Given the description of an element on the screen output the (x, y) to click on. 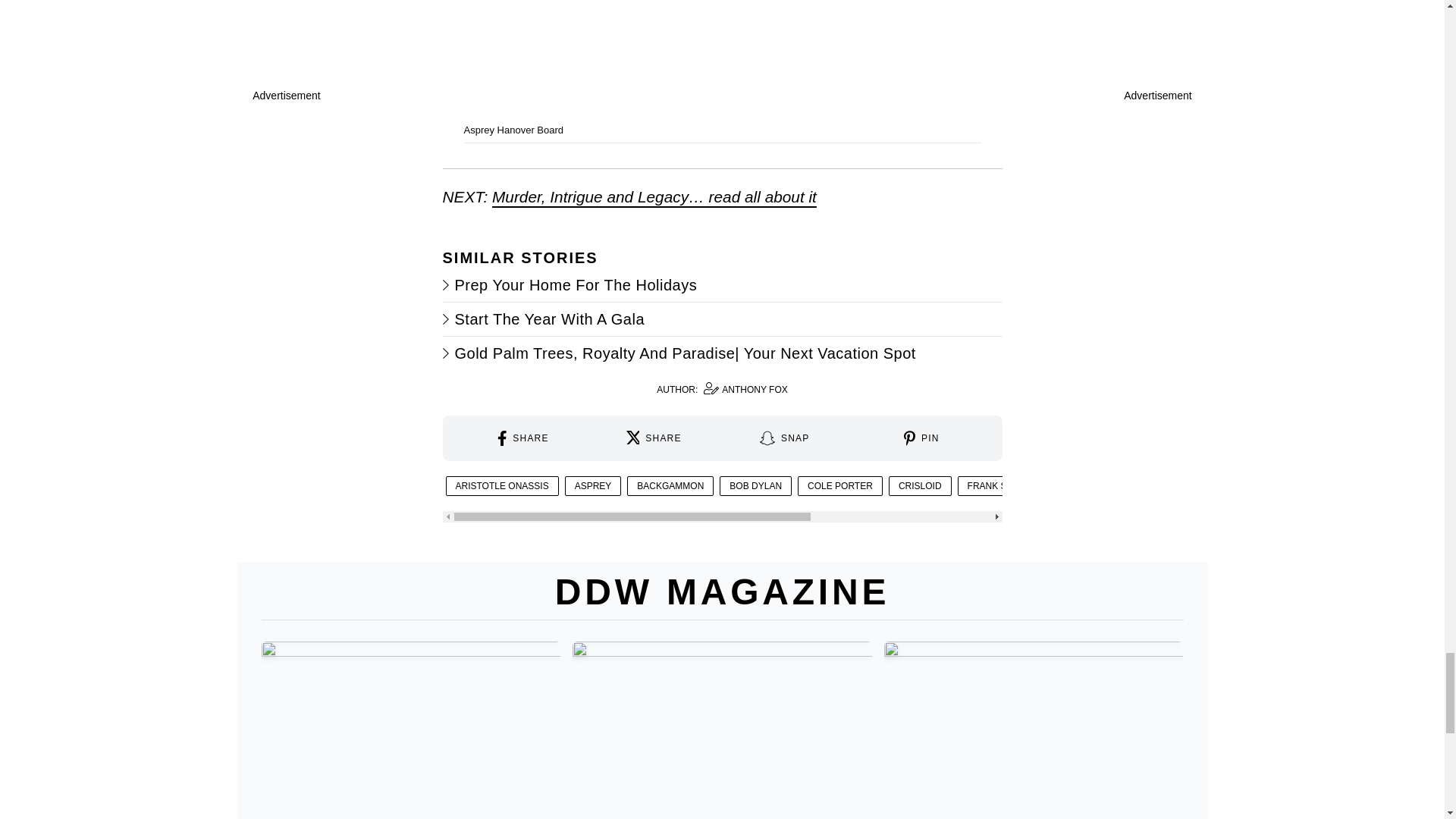
SHARE (722, 389)
SHARE (653, 438)
